Given the description of an element on the screen output the (x, y) to click on. 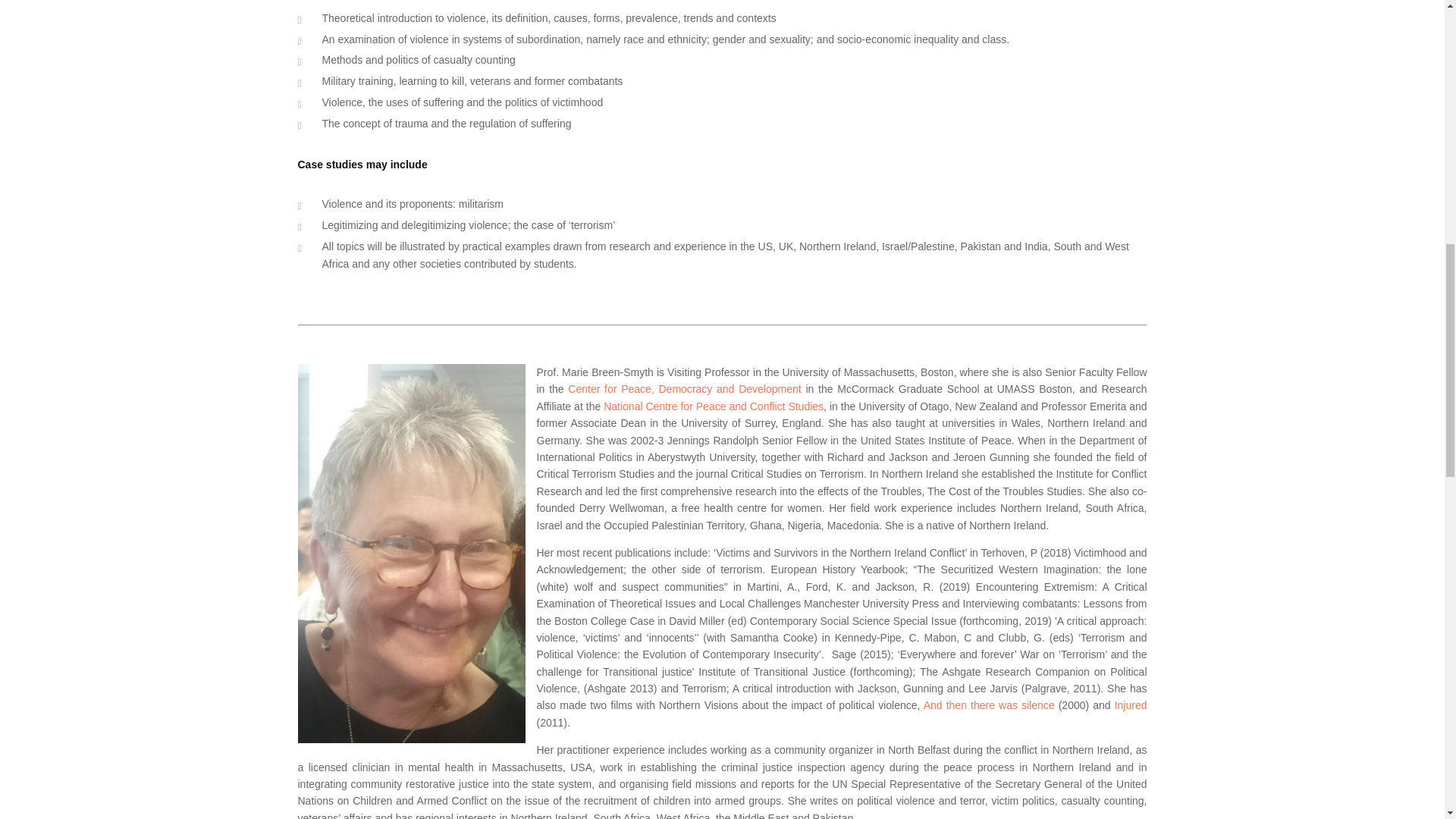
And then there was silence (988, 705)
National Centre for Peace and Conflict Studies (714, 406)
Injured (1131, 705)
Center for Peace, Democracy and Development (683, 388)
